Given the description of an element on the screen output the (x, y) to click on. 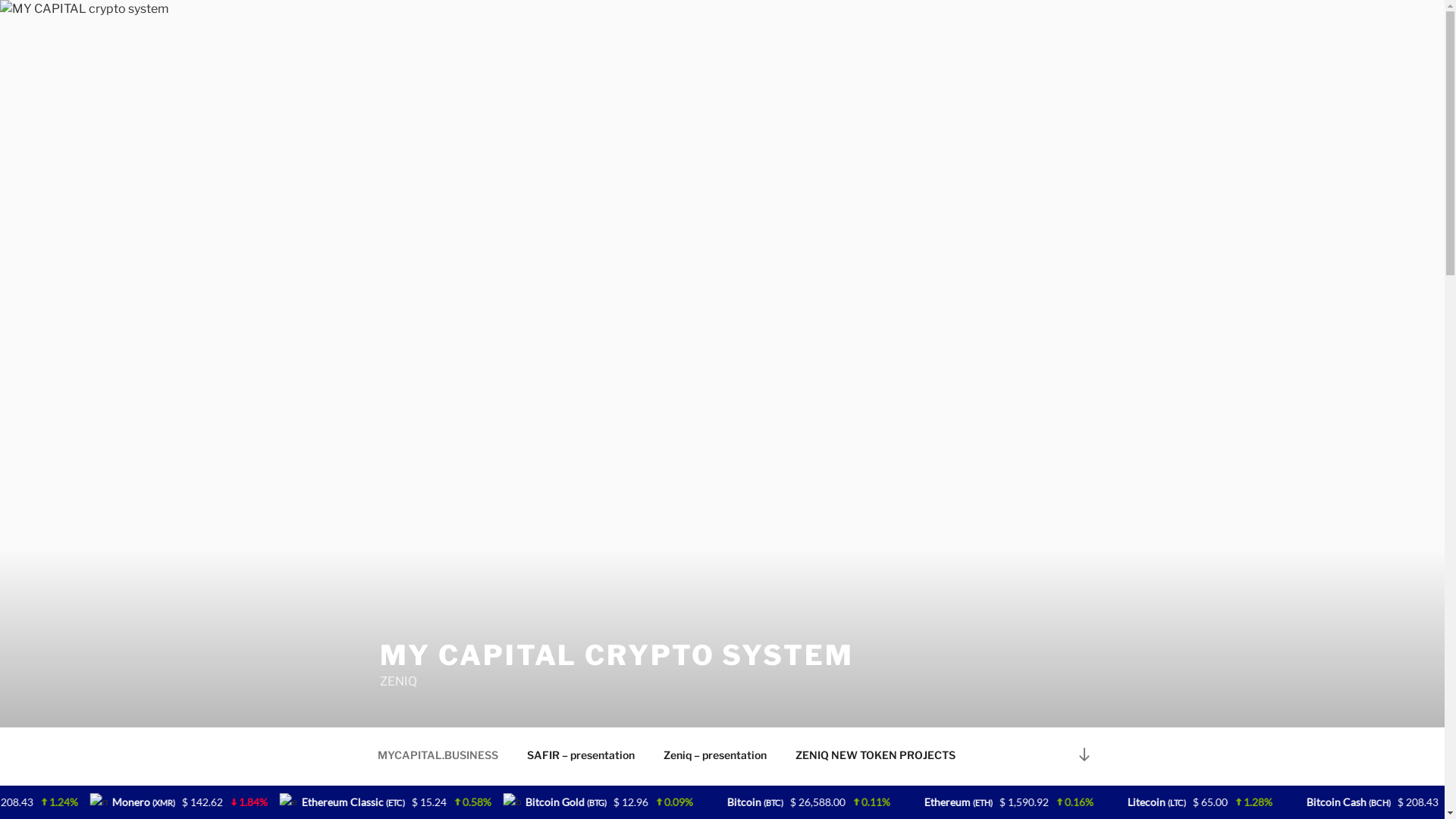
BlackFort Network Element type: text (749, 791)
Skip to content Element type: text (0, 0)
MYCAPITAL.BUSINESS Element type: text (437, 753)
ZENIQ NEW TOKEN PROJECTS Element type: text (875, 753)
MY CAPITAL CRYPTO SYSTEM Element type: text (616, 654)
Avinoc Element type: text (588, 791)
Telegram Element type: text (849, 791)
Contact Us Element type: text (931, 791)
ZENCON Element type: text (518, 791)
TUPAN Element type: text (653, 791)
Scroll down to content Element type: text (1083, 753)
SAFIR Backoffice Element type: text (422, 791)
